Given the description of an element on the screen output the (x, y) to click on. 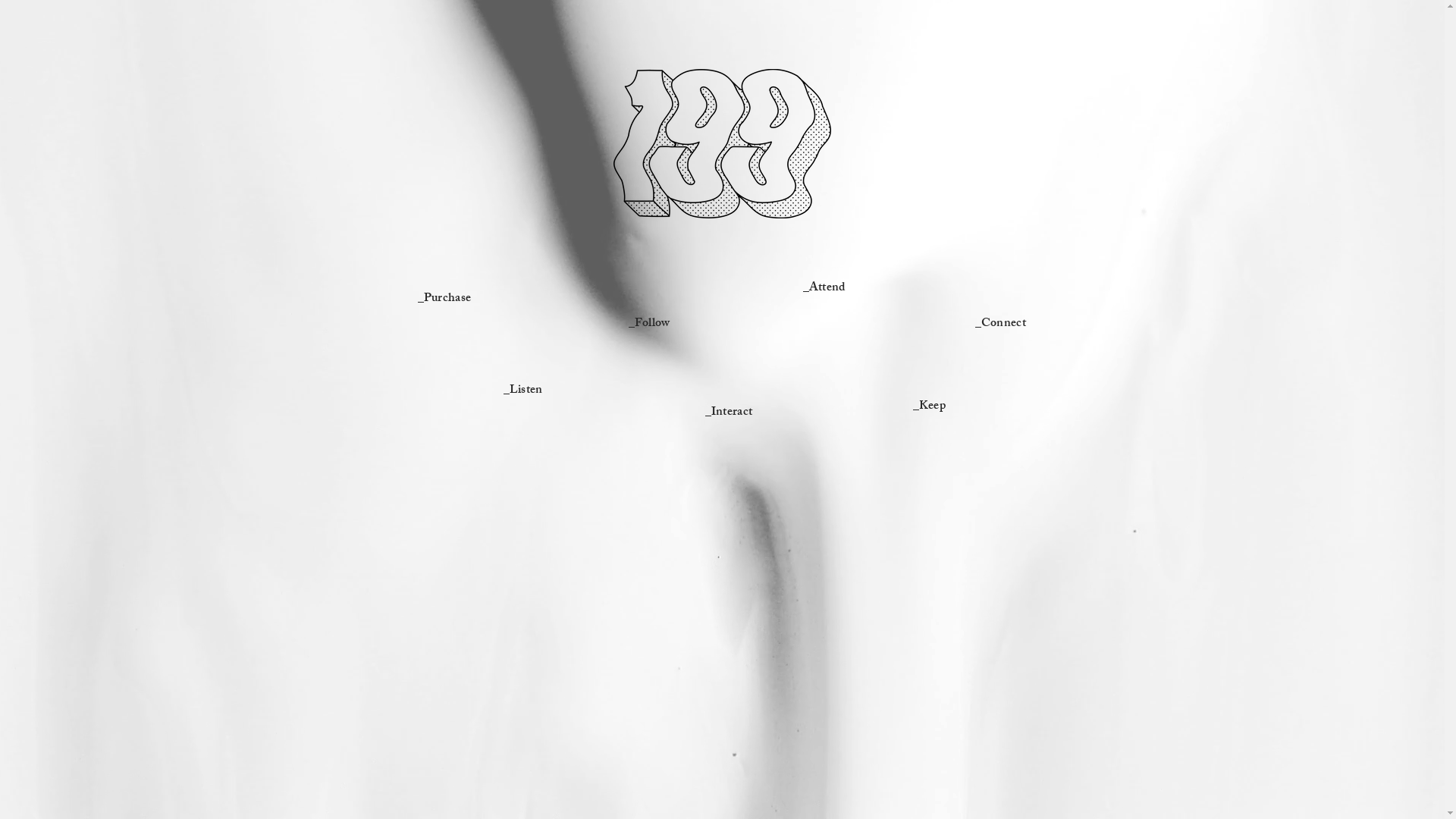
_Keep Element type: text (929, 404)
_Follow Element type: text (648, 321)
_Attend Element type: text (823, 286)
_Listen Element type: text (522, 388)
_Connect Element type: text (1000, 321)
_Purchase Element type: text (443, 296)
_Interact Element type: text (729, 410)
199 logo drawn black.png Element type: hover (721, 143)
